Given the description of an element on the screen output the (x, y) to click on. 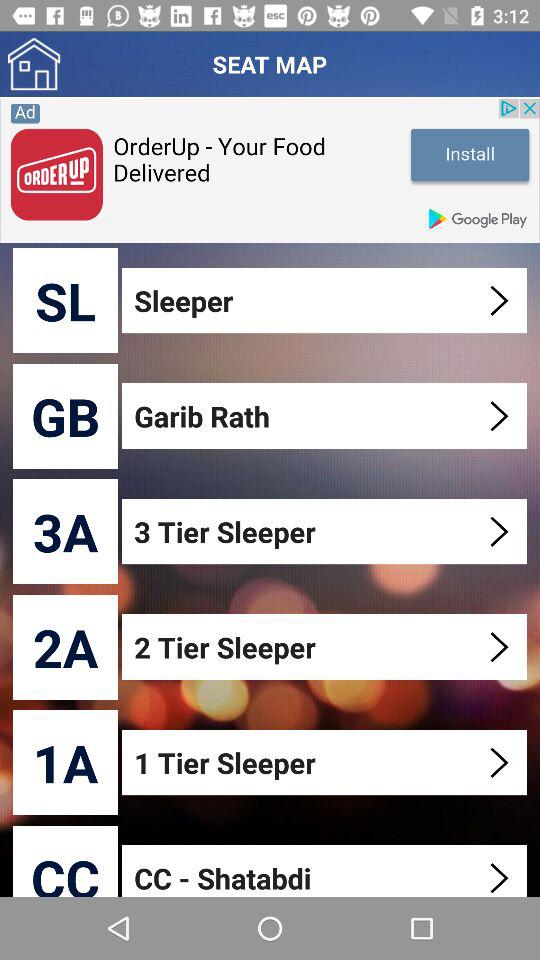
view advertisement (269, 170)
